Given the description of an element on the screen output the (x, y) to click on. 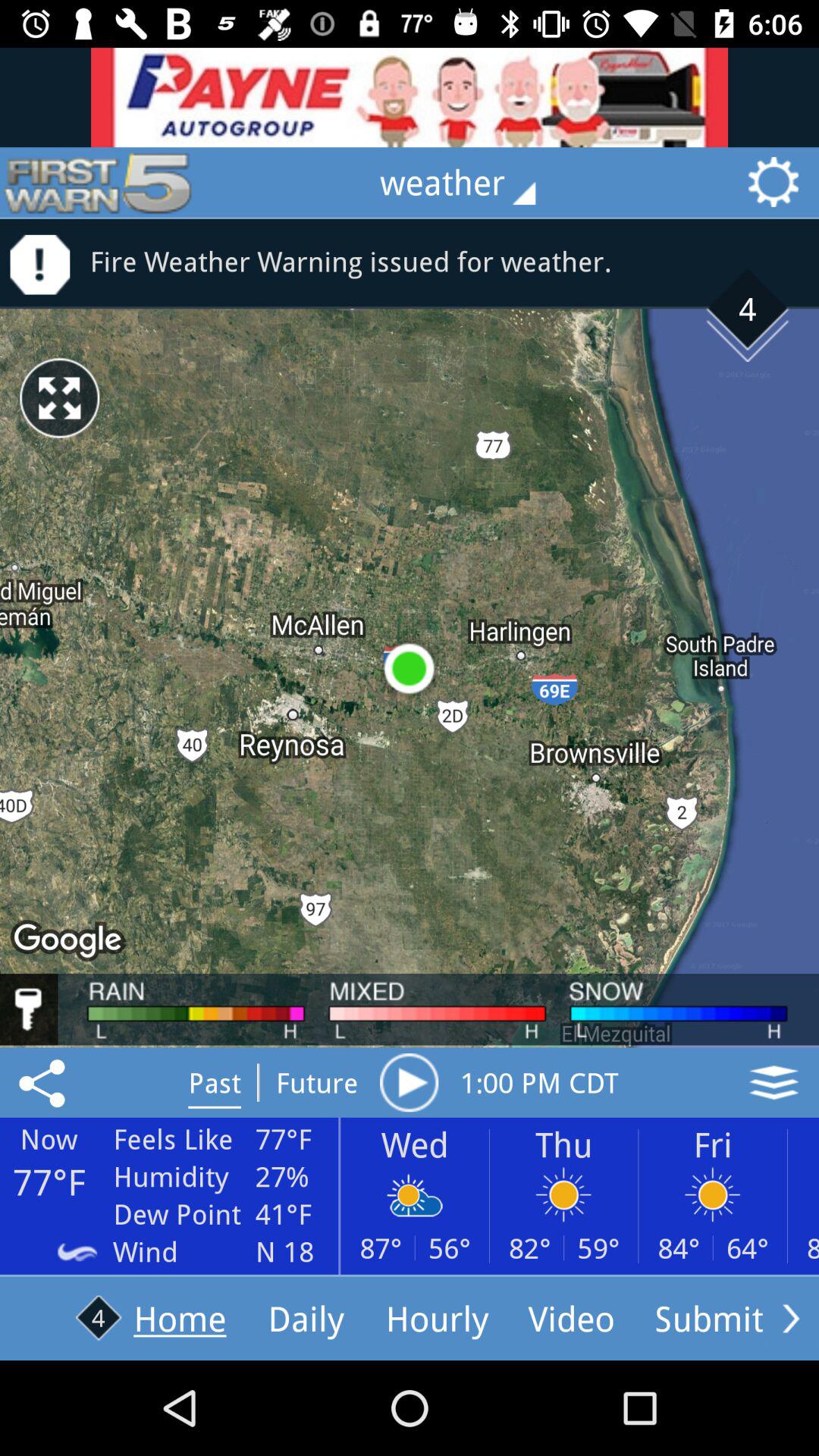
scroll right (791, 1318)
